Given the description of an element on the screen output the (x, y) to click on. 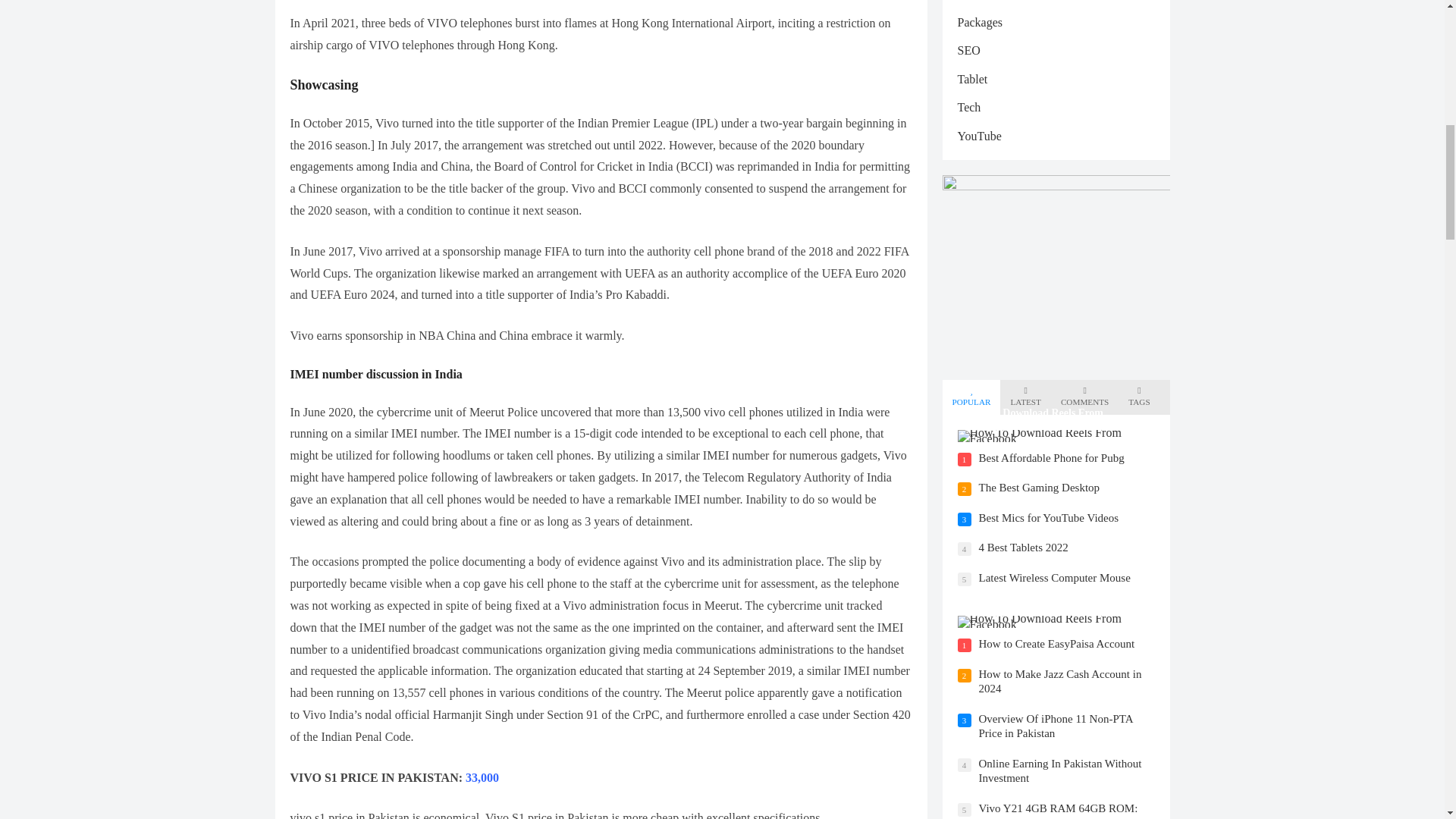
Comments (1084, 396)
Latest (1025, 396)
Tags (1139, 396)
Popular (971, 396)
